Given the description of an element on the screen output the (x, y) to click on. 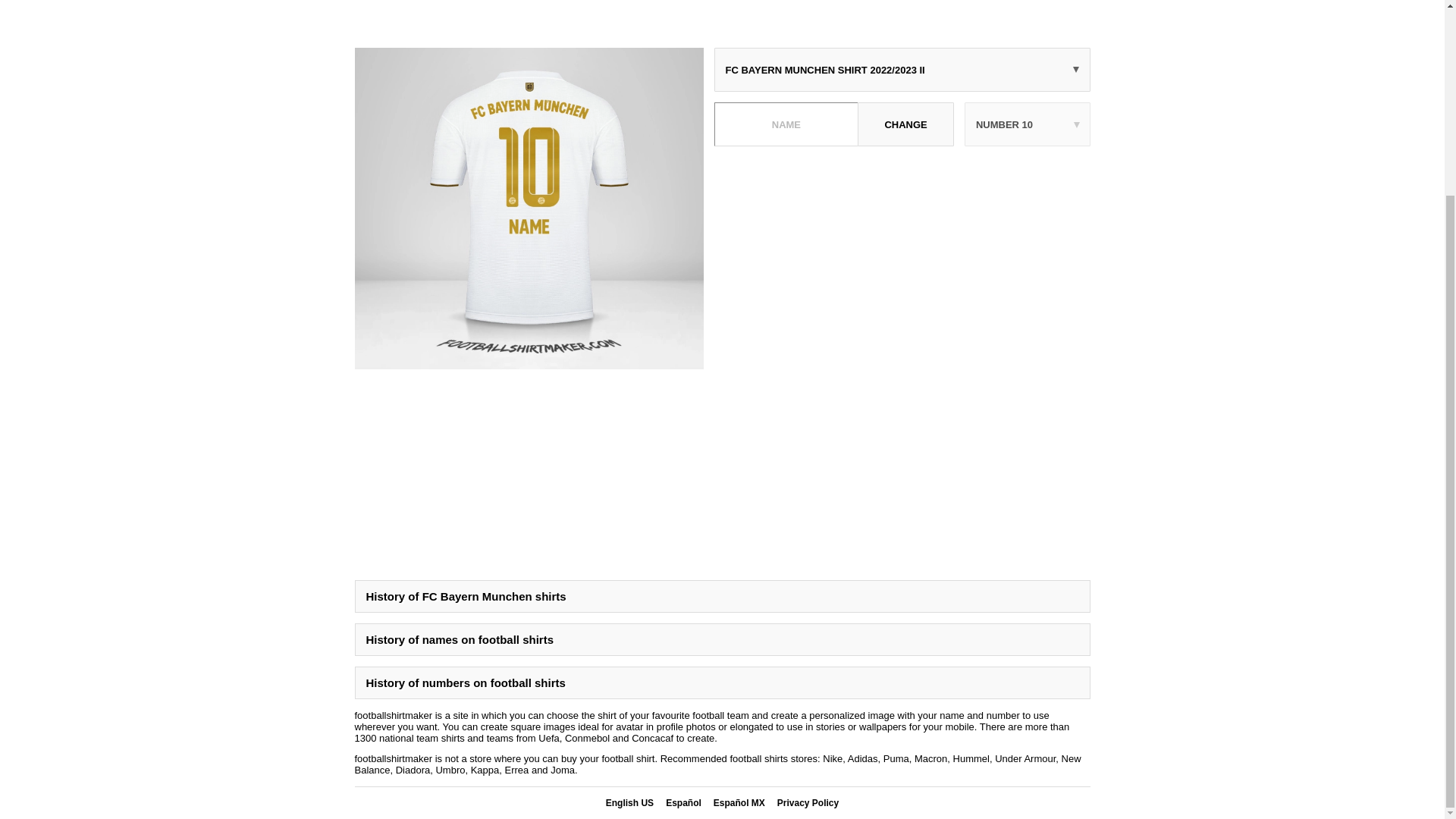
CHANGE (905, 124)
History of names on football shirts (722, 639)
History of FC Bayern Munchen shirts (722, 595)
History of numbers on football shirts (722, 682)
Privacy Policy (807, 802)
Advertisement (902, 263)
CHANGE (905, 124)
Advertisement (722, 18)
English US (629, 802)
